Given the description of an element on the screen output the (x, y) to click on. 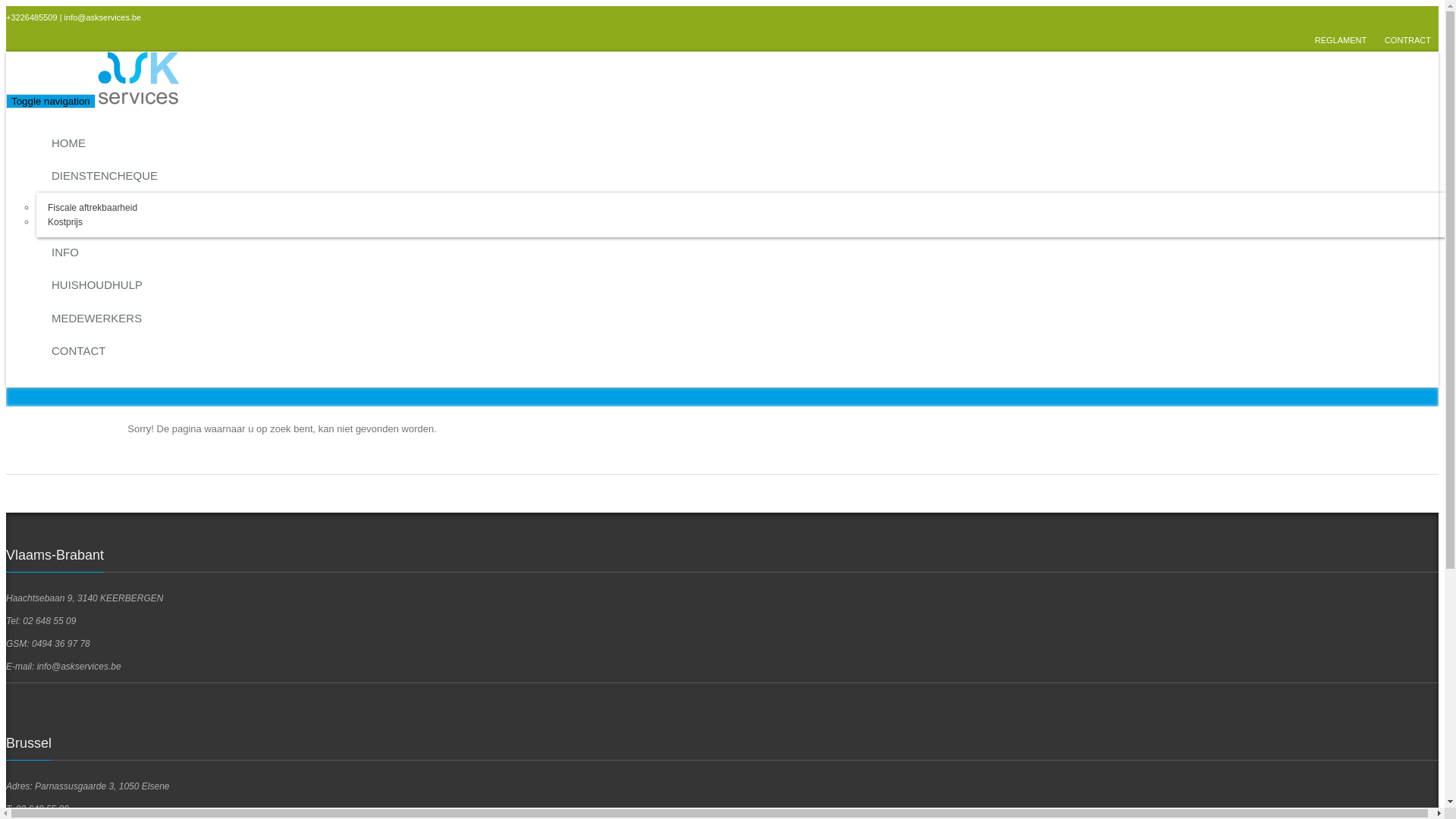
HOME Element type: text (742, 143)
CONTRACT Element type: text (1407, 39)
CONTACT Element type: text (742, 352)
INFO Element type: text (742, 252)
Fiscale aftrekbaarheid Element type: text (92, 206)
MEDEWERKERS Element type: text (742, 319)
HUISHOUDHULP Element type: text (742, 286)
DIENSTENCHEQUE Element type: text (742, 177)
Kostprijs Element type: text (65, 222)
Toggle navigation Element type: text (50, 101)
REGLAMENT Element type: text (1340, 39)
